Given the description of an element on the screen output the (x, y) to click on. 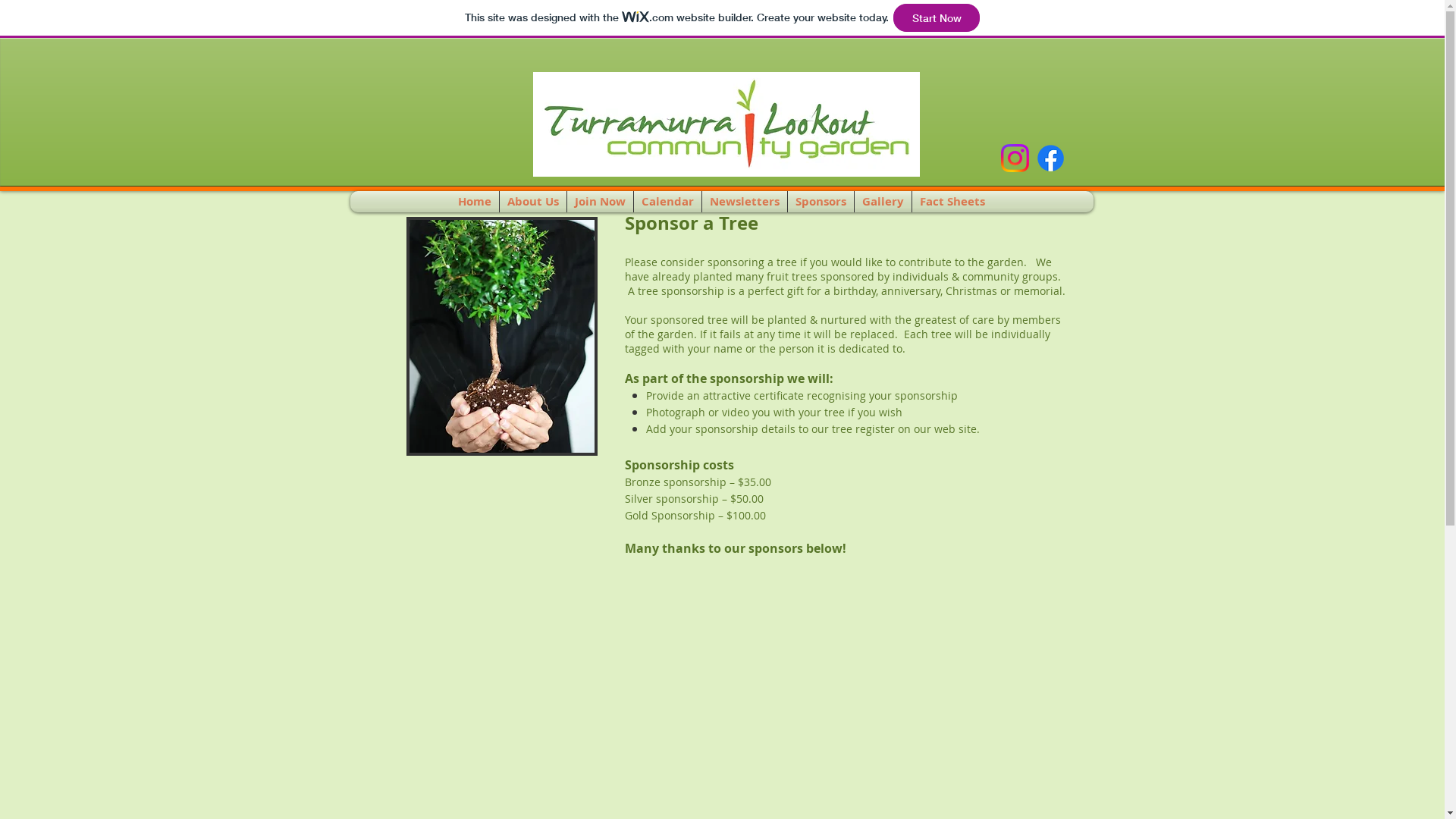
About Us Element type: text (532, 201)
Newsletters Element type: text (744, 201)
Wix Weather Element type: hover (435, 118)
Join Now Element type: text (600, 201)
Gallery Element type: text (882, 201)
Fact Sheets Element type: text (952, 201)
Calendar Element type: text (667, 201)
Sponsors Element type: text (820, 201)
Home Element type: text (474, 201)
